Given the description of an element on the screen output the (x, y) to click on. 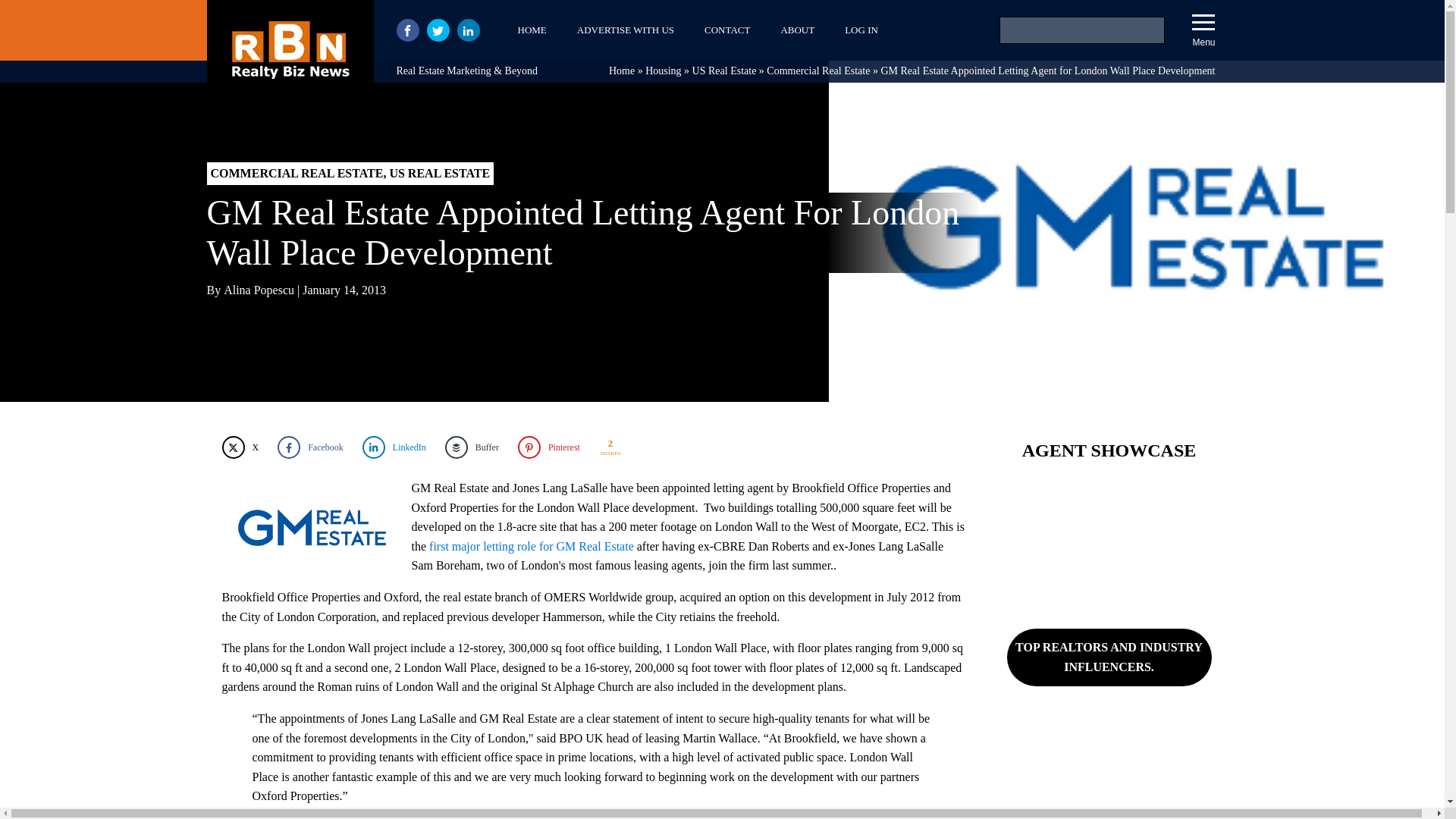
Search (31, 13)
Commercial Real Estate (818, 70)
Commercial Real Estate (818, 70)
ABOUT (797, 30)
HOME (531, 30)
US Real Estate (725, 70)
Housing (663, 70)
Housing (663, 70)
LOG IN (861, 30)
Home (621, 70)
ADVERTISE WITH US (625, 30)
US Real Estate (725, 70)
CONTACT (726, 30)
Home (621, 70)
